Given the description of an element on the screen output the (x, y) to click on. 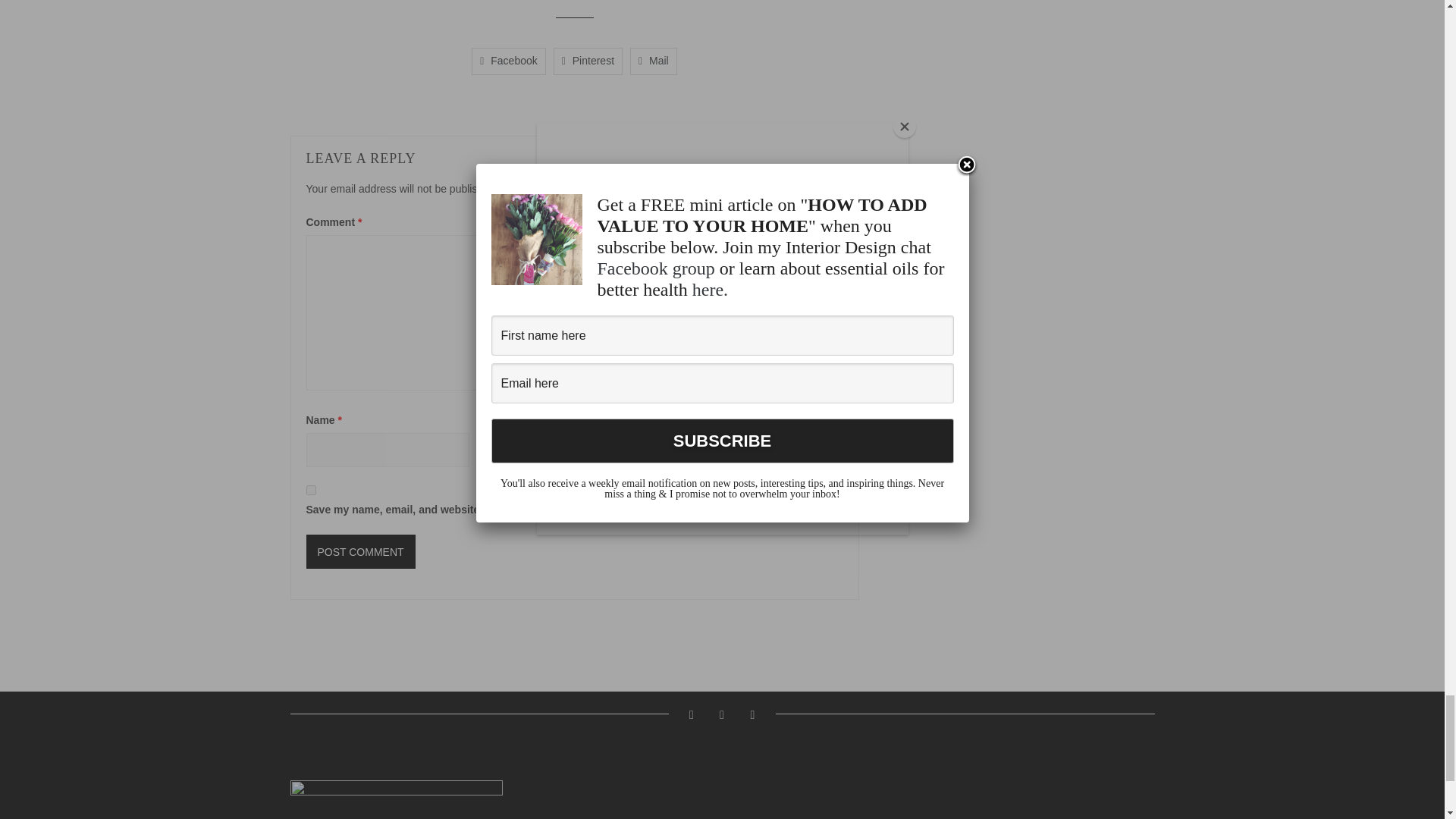
Facebook (508, 61)
Post Comment (359, 551)
Post Comment (359, 551)
yes (310, 490)
Mail (653, 61)
Pinterest (588, 61)
